Given the description of an element on the screen output the (x, y) to click on. 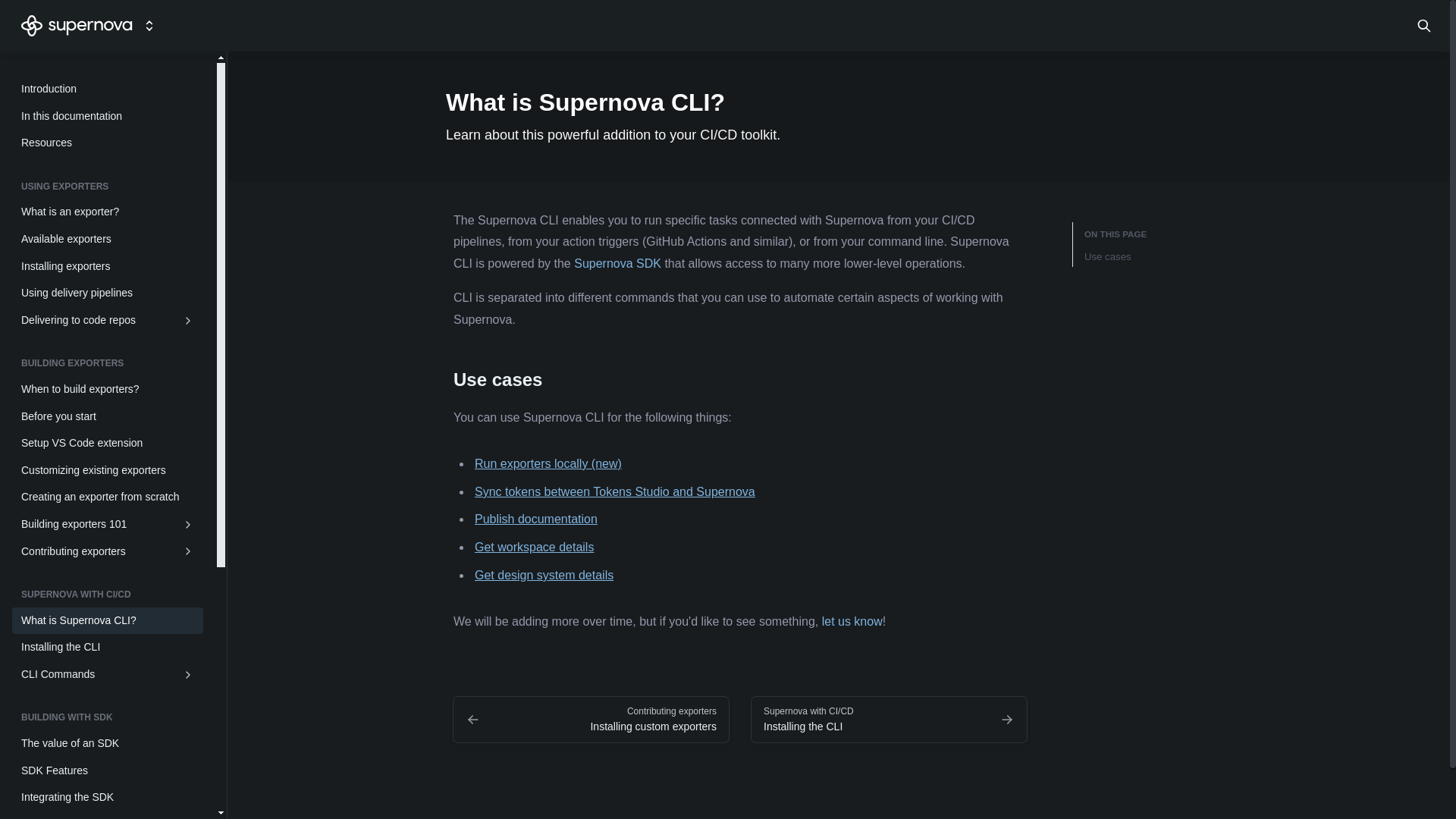
Basics of using the SDK (107, 815)
When to build exporters? (107, 389)
CLI Commands (107, 674)
BUILDING WITH SDK (107, 720)
USING EXPORTERS (107, 189)
In this documentation (107, 116)
Contributing exporters (107, 551)
BUILDING EXPORTERS (107, 366)
Installing exporters (107, 266)
SDK Features (107, 770)
